Given the description of an element on the screen output the (x, y) to click on. 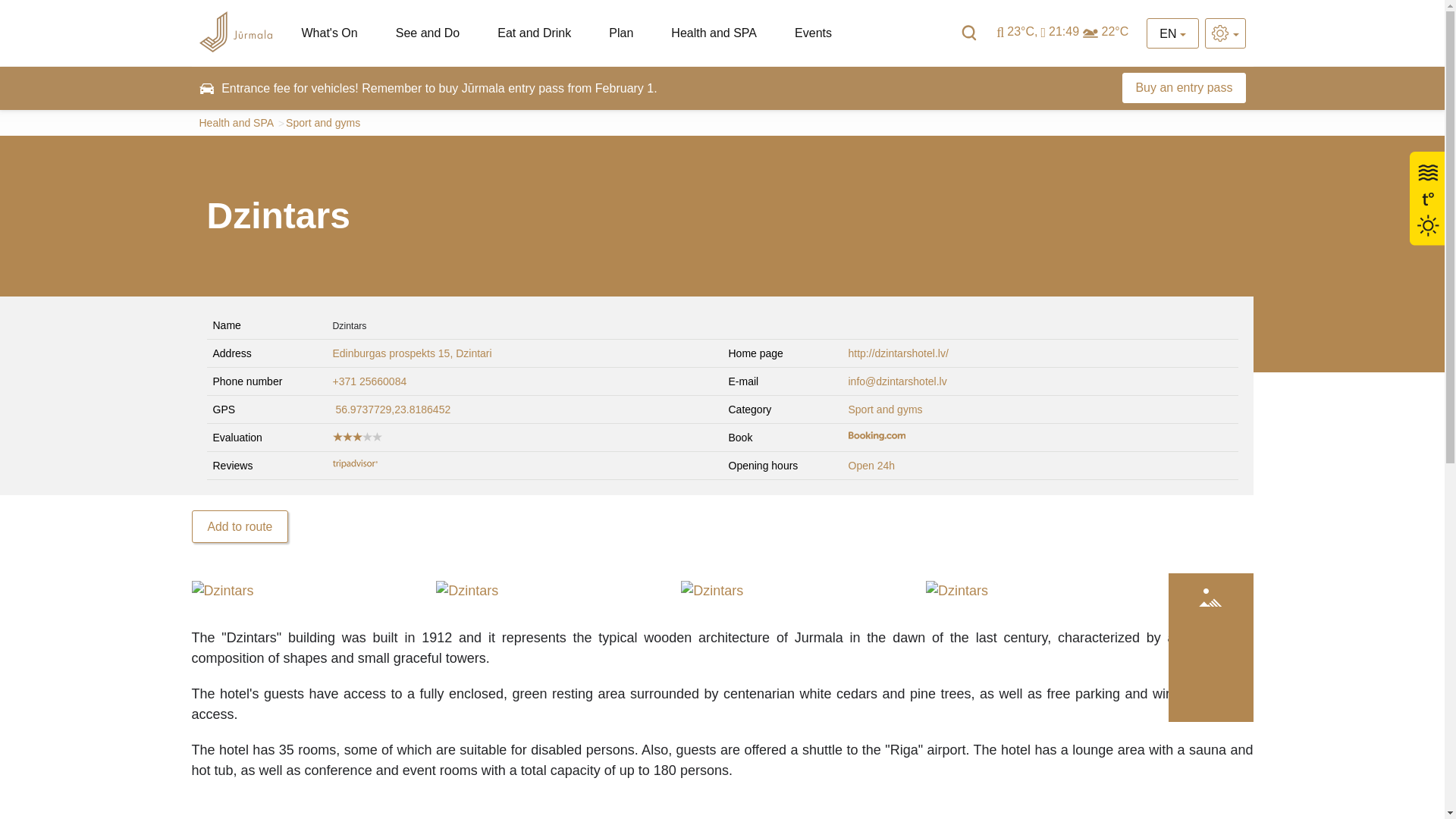
What's On (329, 33)
Eat and Drink (533, 33)
See and Do (428, 33)
